Given the description of an element on the screen output the (x, y) to click on. 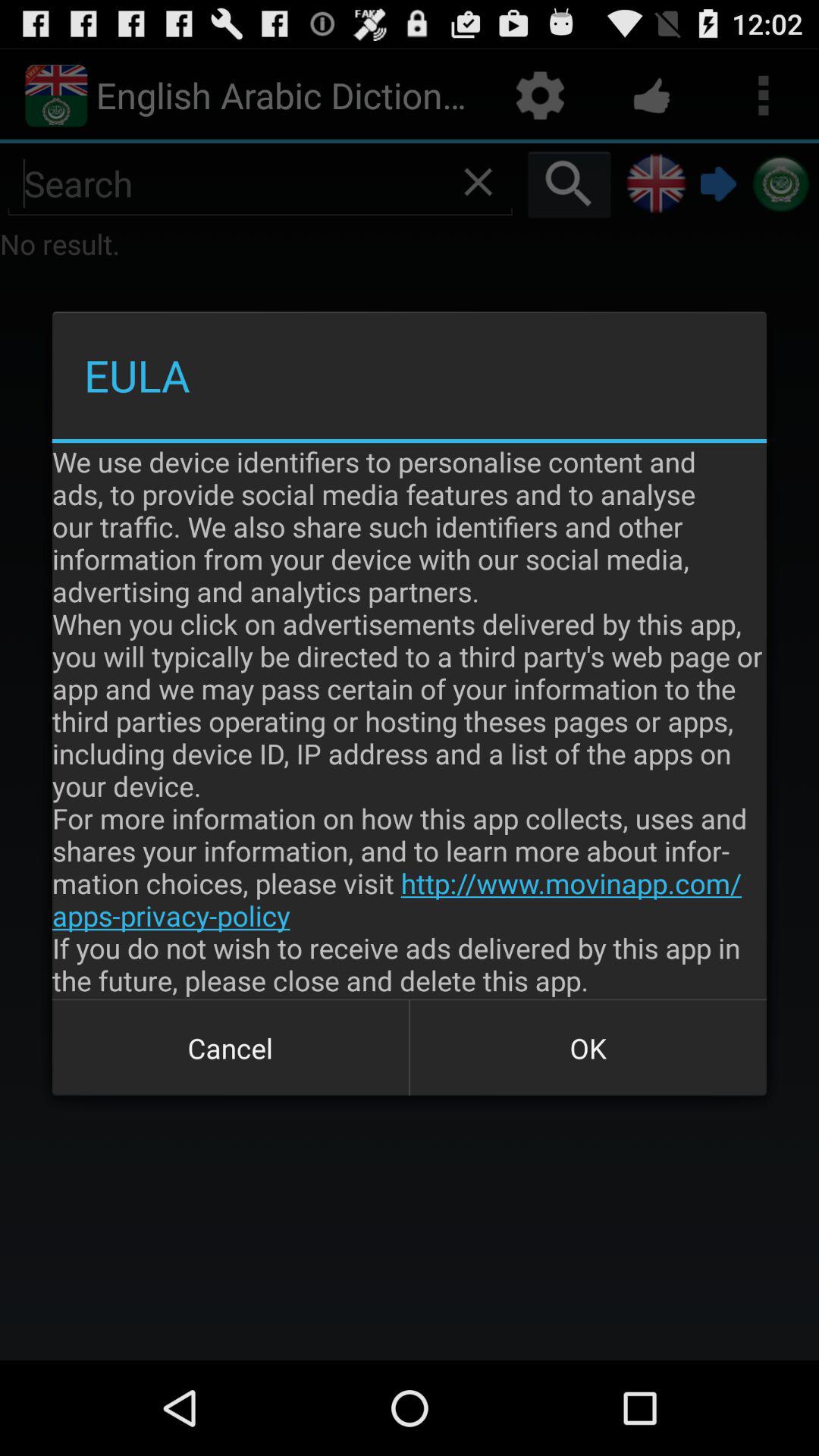
turn on we use device at the center (409, 721)
